Given the description of an element on the screen output the (x, y) to click on. 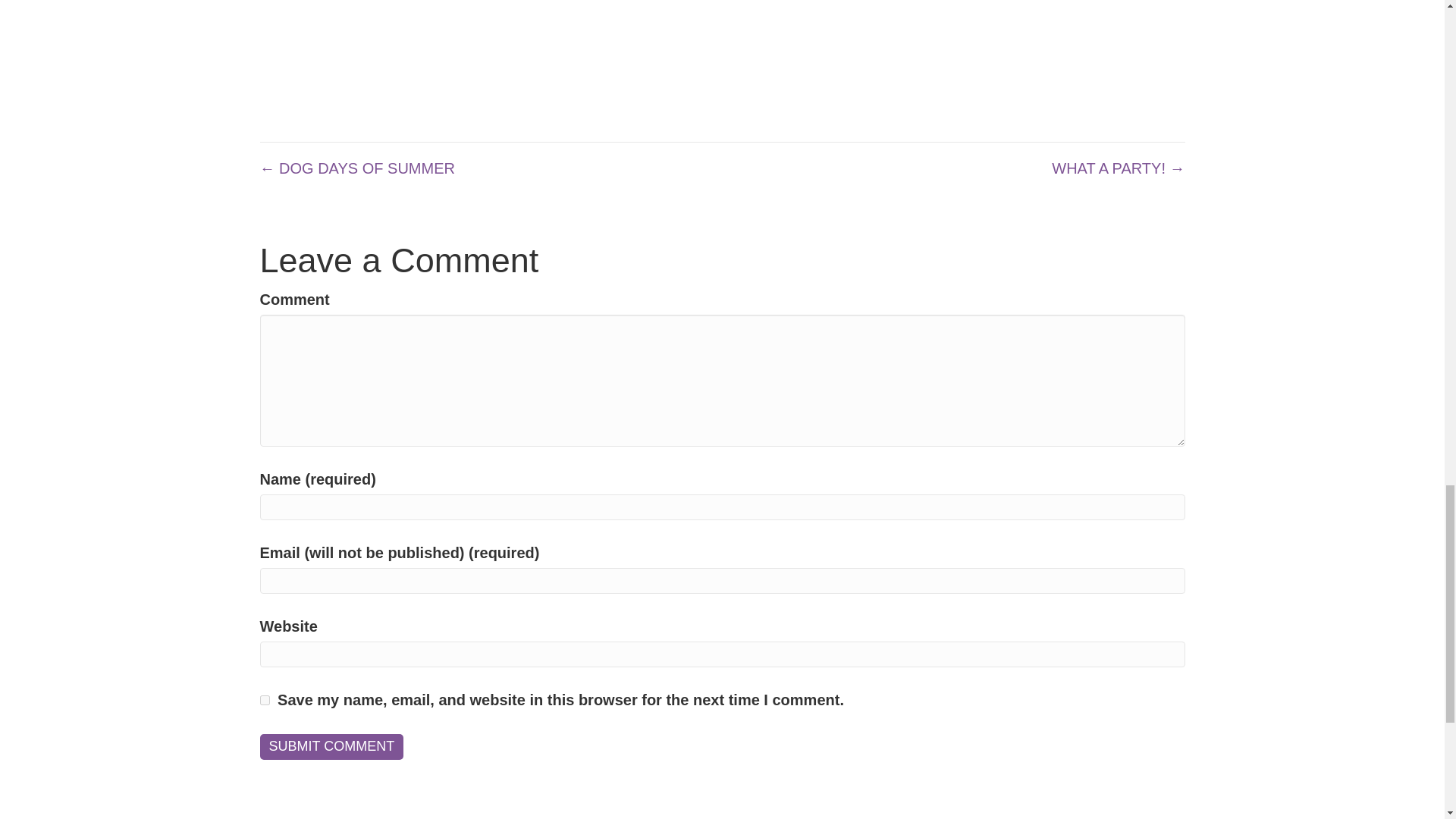
Submit Comment (331, 746)
tacoma-art-month (985, 55)
yes (264, 700)
Submit Comment (331, 746)
